Given the description of an element on the screen output the (x, y) to click on. 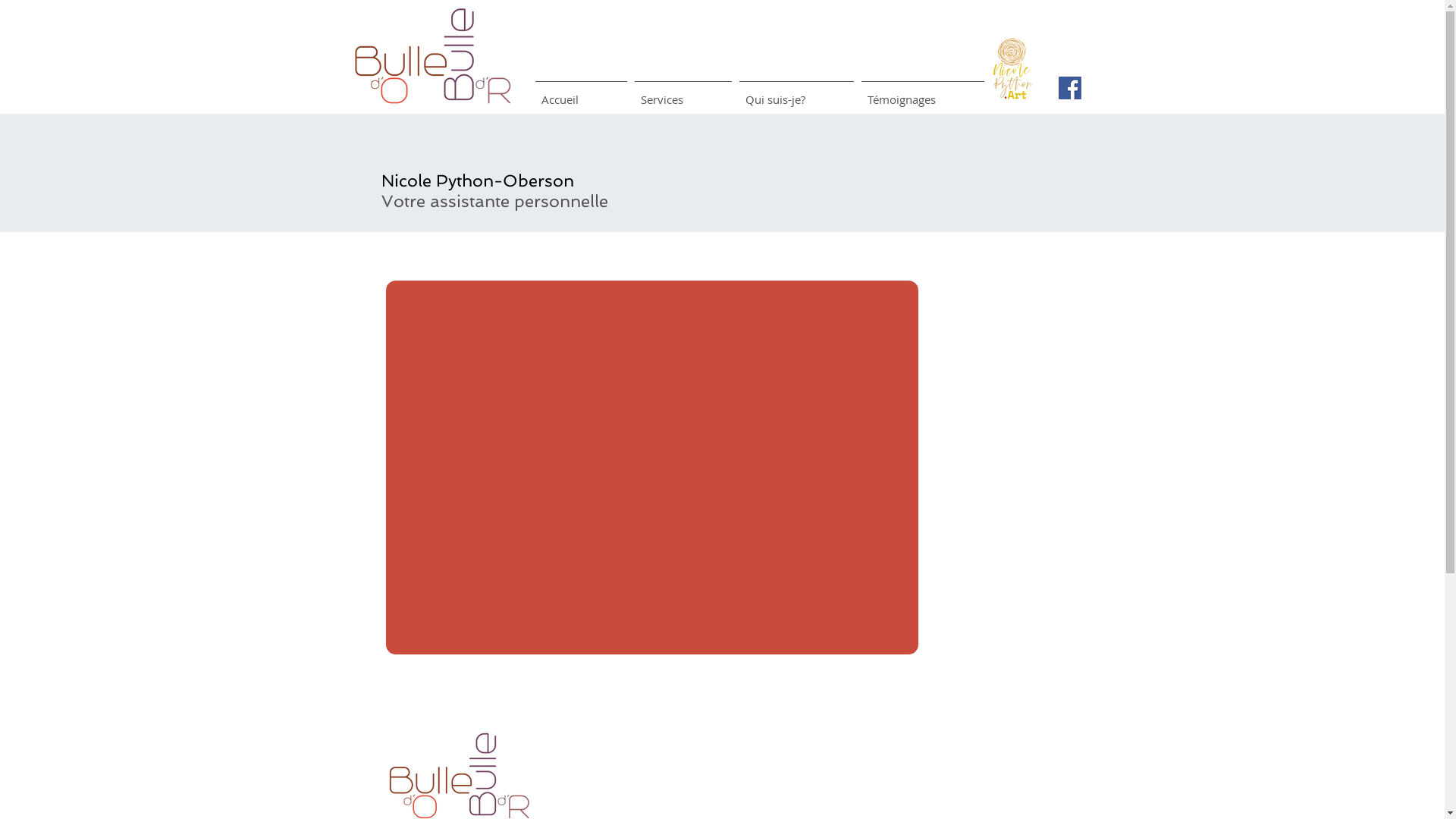
Qui suis-je? Element type: text (796, 92)
Accueil Element type: text (580, 92)
Google Maps Element type: hover (652, 467)
04_bulle_do_logo_RVB_web_fond_transp.png Element type: hover (431, 54)
Services Element type: text (682, 92)
